Given the description of an element on the screen output the (x, y) to click on. 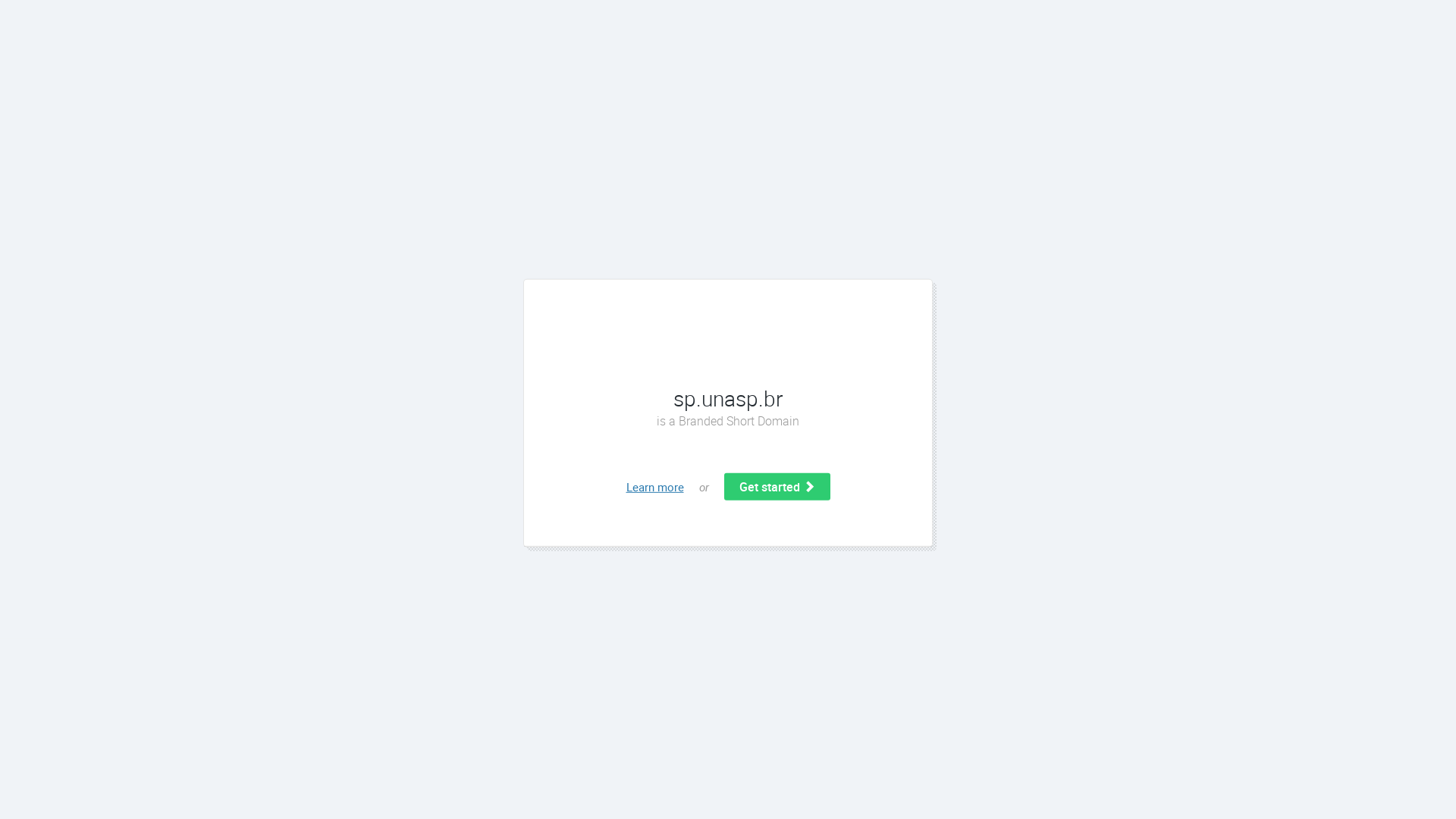
Get started Element type: text (776, 486)
Learn more Element type: text (655, 486)
